Given the description of an element on the screen output the (x, y) to click on. 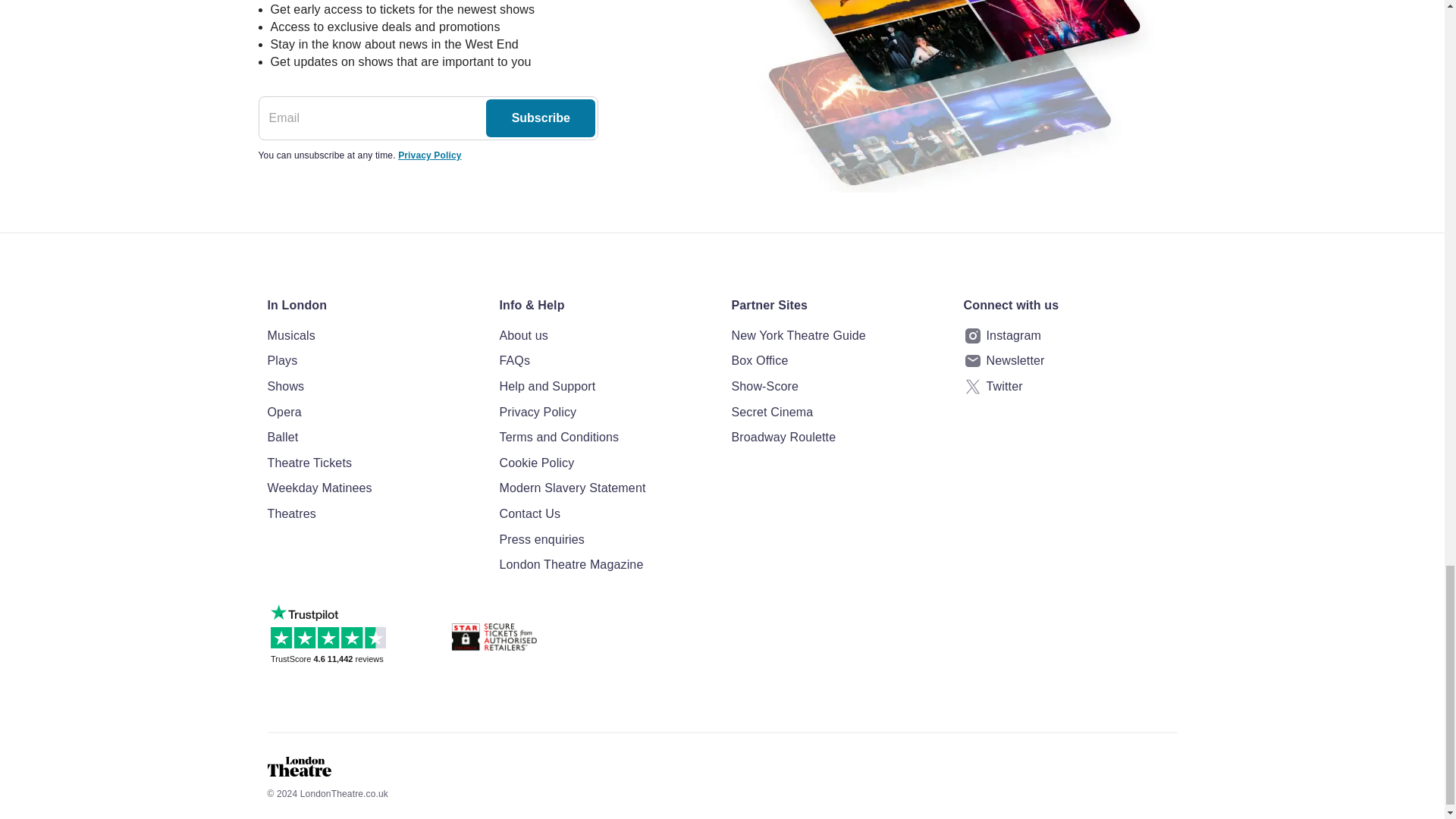
Weekday Matinees (373, 487)
FAQs (606, 361)
New York Theatre Guide (837, 335)
Help and Support (606, 386)
Contact Us (606, 514)
Terms and Conditions (606, 437)
Theatres (373, 514)
London Theatre Magazine (606, 564)
Theatre Tickets (373, 463)
Modern Slavery Statement (606, 487)
Ballet (373, 437)
Press enquiries (606, 539)
Plays (373, 361)
Privacy Policy (606, 412)
About us (606, 335)
